Given the description of an element on the screen output the (x, y) to click on. 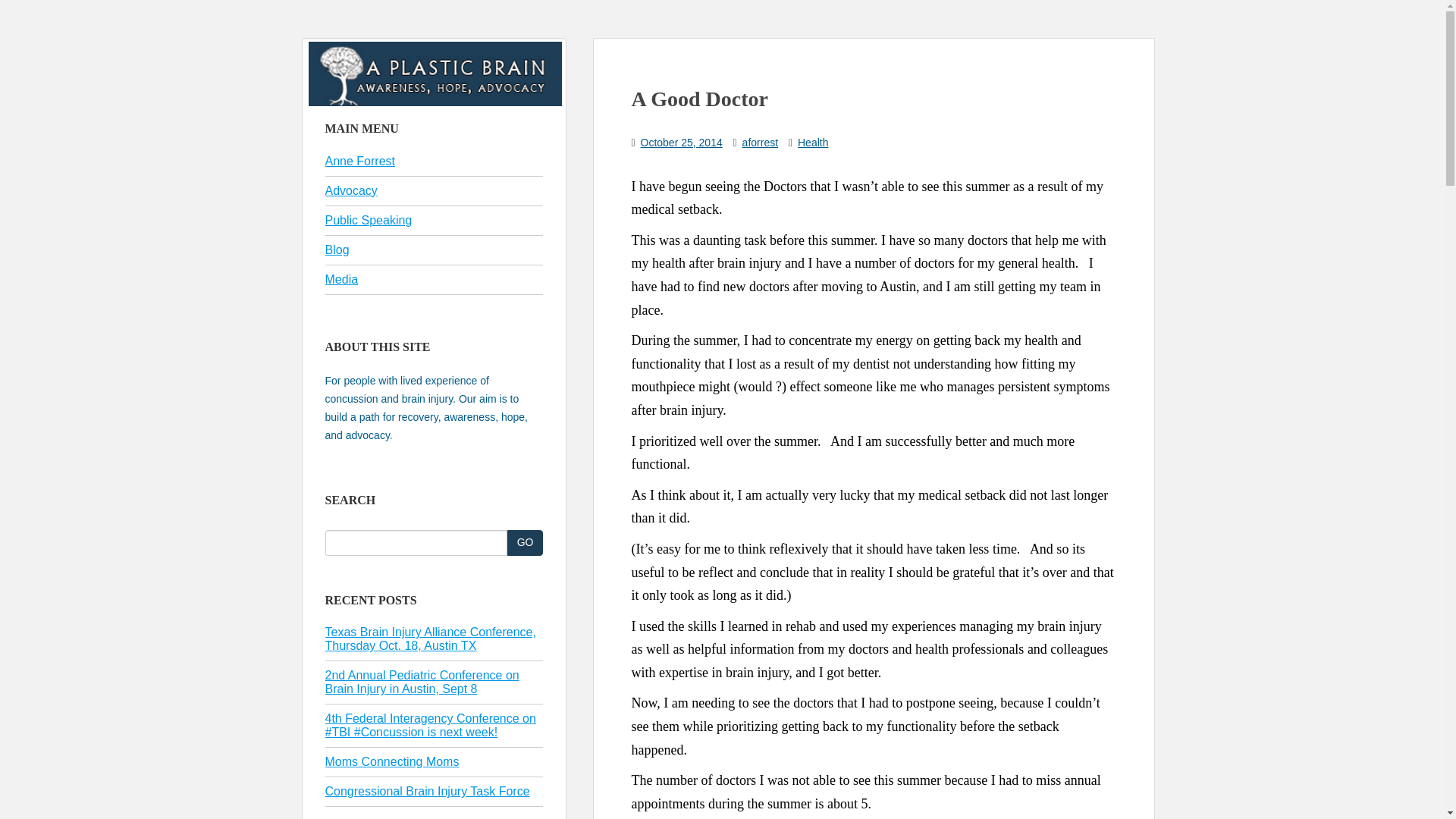
Media (341, 278)
Health (812, 142)
October 25, 2014 (681, 142)
Moms Connecting Moms (391, 761)
Anne Forrest (359, 160)
Blog (336, 249)
GO (524, 542)
Public Speaking (368, 219)
aforrest (759, 142)
